Given the description of an element on the screen output the (x, y) to click on. 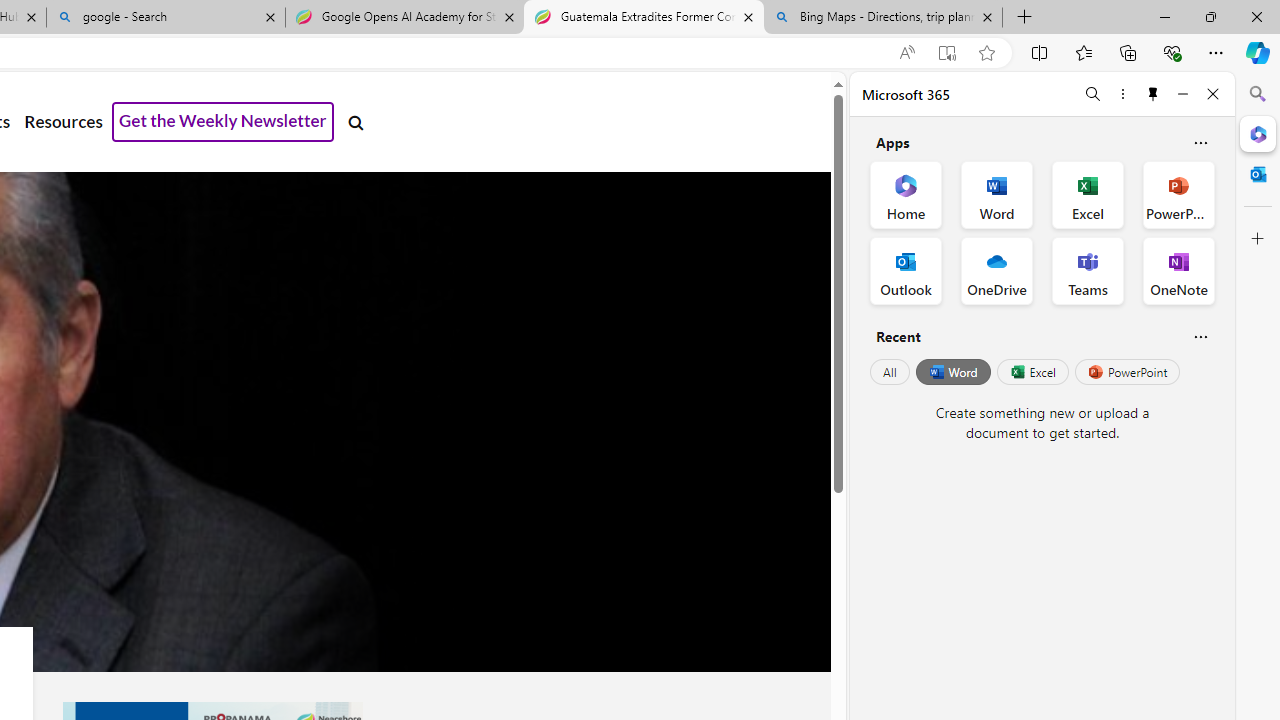
OneNote Office App (1178, 270)
Get the Weekly Newsletter (223, 121)
Word (952, 372)
Excel Office App (1087, 194)
Teams Office App (1087, 270)
Get the Weekly Newsletter (223, 121)
PowerPoint (1127, 372)
google - Search (166, 17)
